Given the description of an element on the screen output the (x, y) to click on. 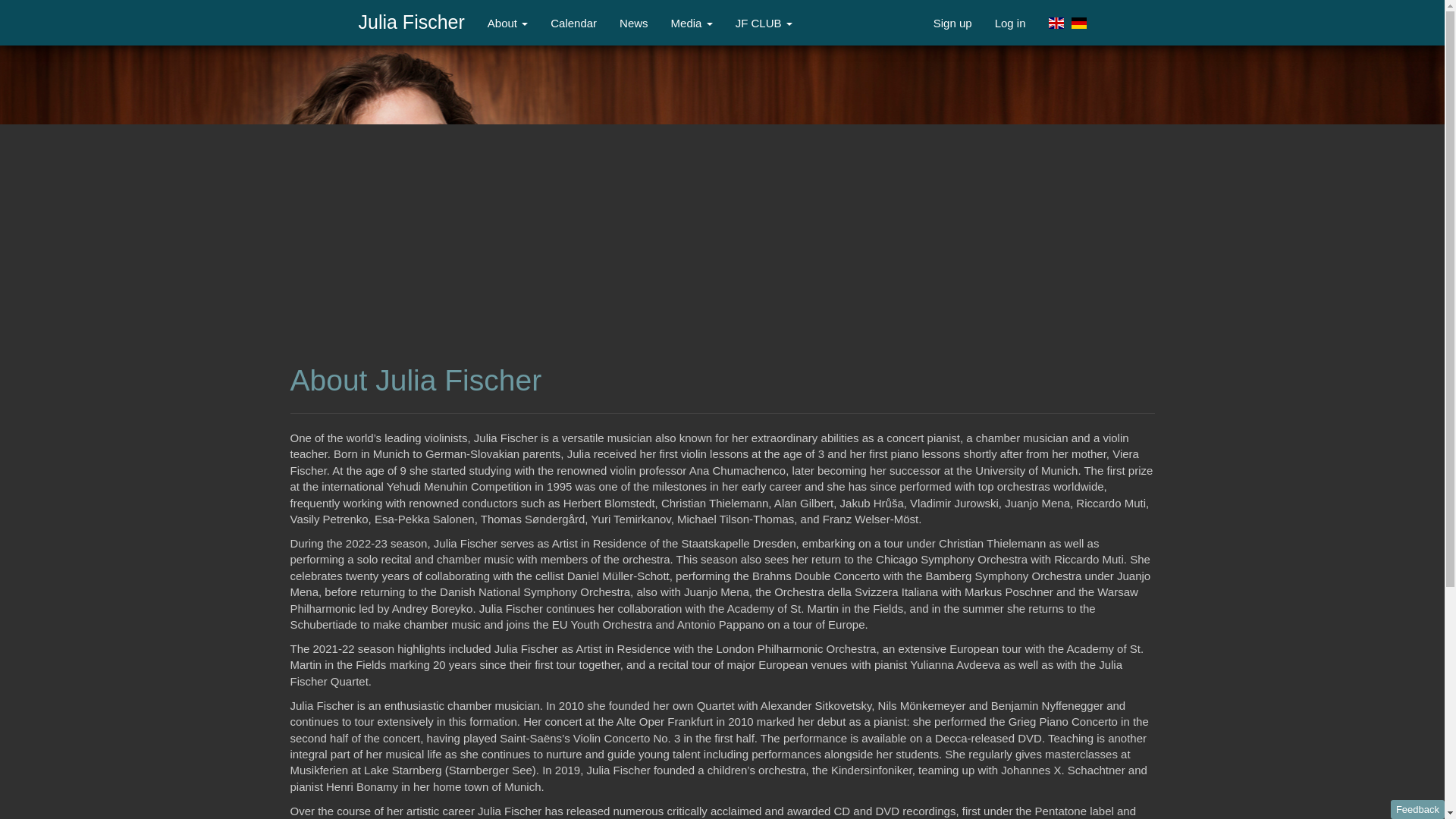
JF CLUB (763, 22)
Julia Fischer (411, 22)
About (507, 22)
Calendar (573, 22)
Log in (1010, 22)
Sign up (952, 22)
Media (691, 22)
News (633, 22)
